Given the description of an element on the screen output the (x, y) to click on. 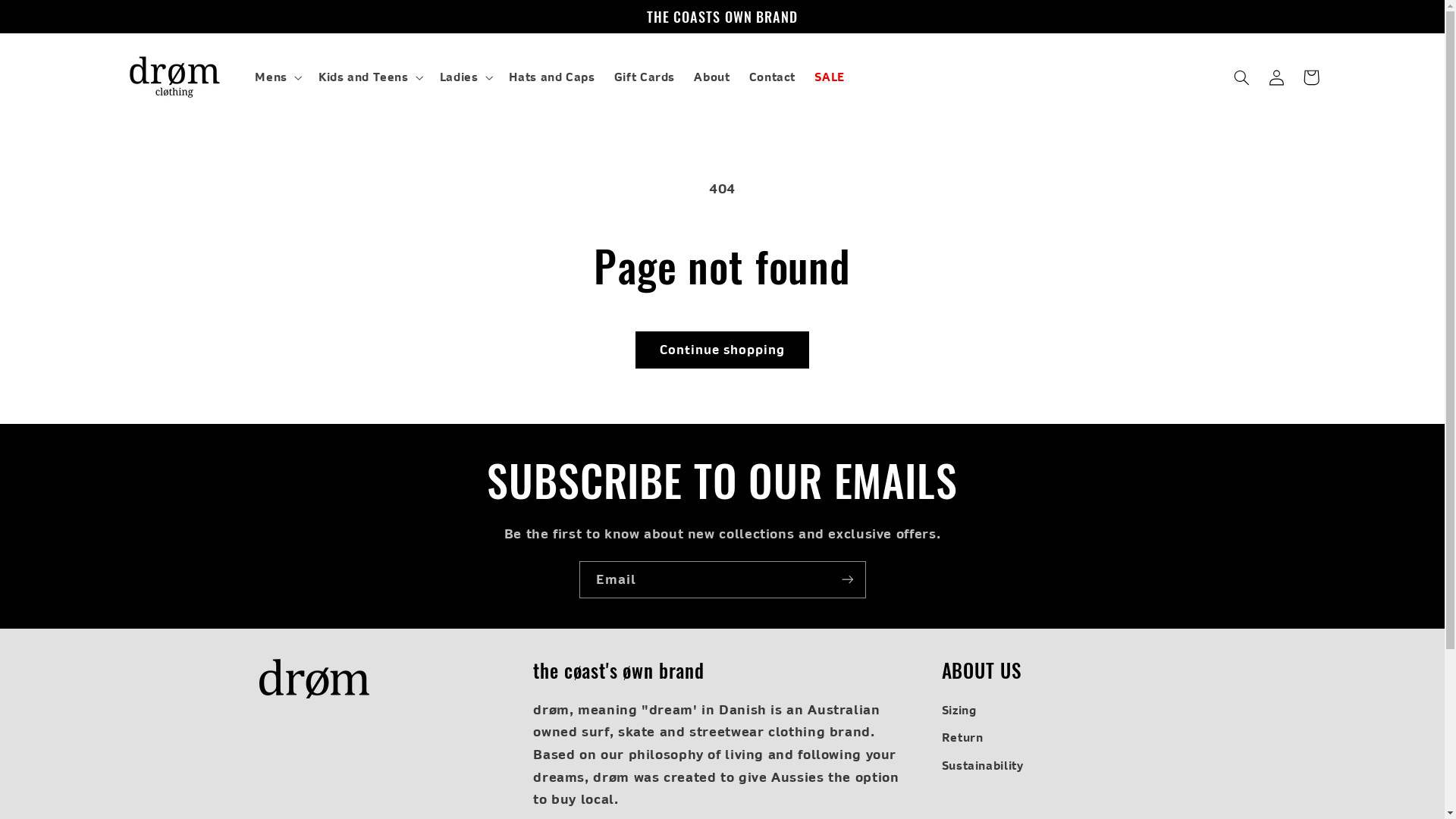
Log in Element type: text (1275, 76)
SALE Element type: text (829, 77)
Return Element type: text (962, 737)
Contact Element type: text (772, 77)
Sizing Element type: text (958, 712)
Cart Element type: text (1310, 76)
About Element type: text (711, 77)
Hats and Caps Element type: text (551, 77)
Gift Cards Element type: text (644, 77)
Continue shopping Element type: text (722, 349)
Sustainability Element type: text (982, 764)
